Given the description of an element on the screen output the (x, y) to click on. 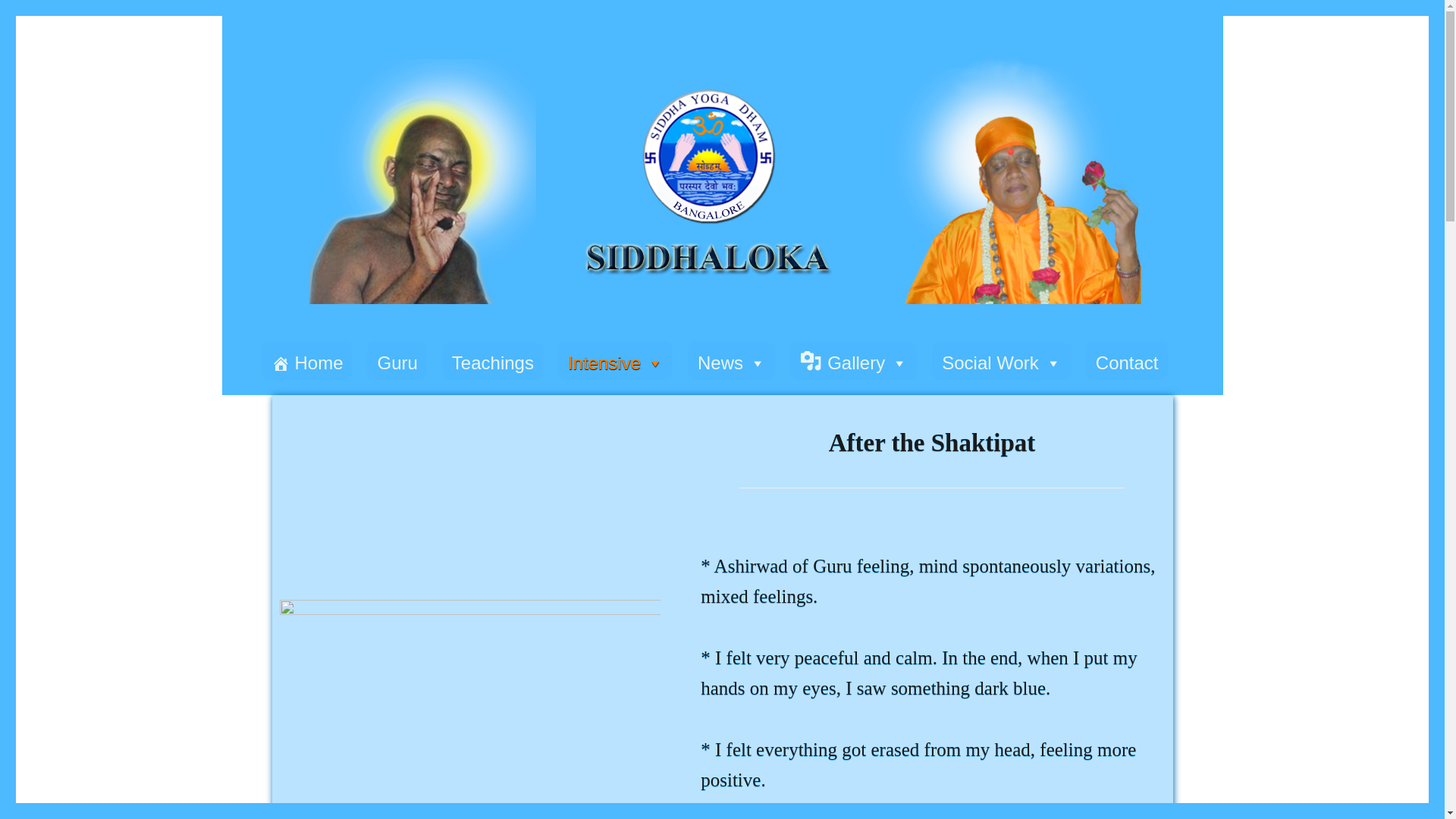
Intensive (614, 361)
News (730, 361)
Contact (1126, 361)
Guru (396, 361)
Social Work (1000, 361)
Siddhaloka (277, 317)
Gallery (853, 361)
Teachings (492, 361)
Home (307, 361)
